Given the description of an element on the screen output the (x, y) to click on. 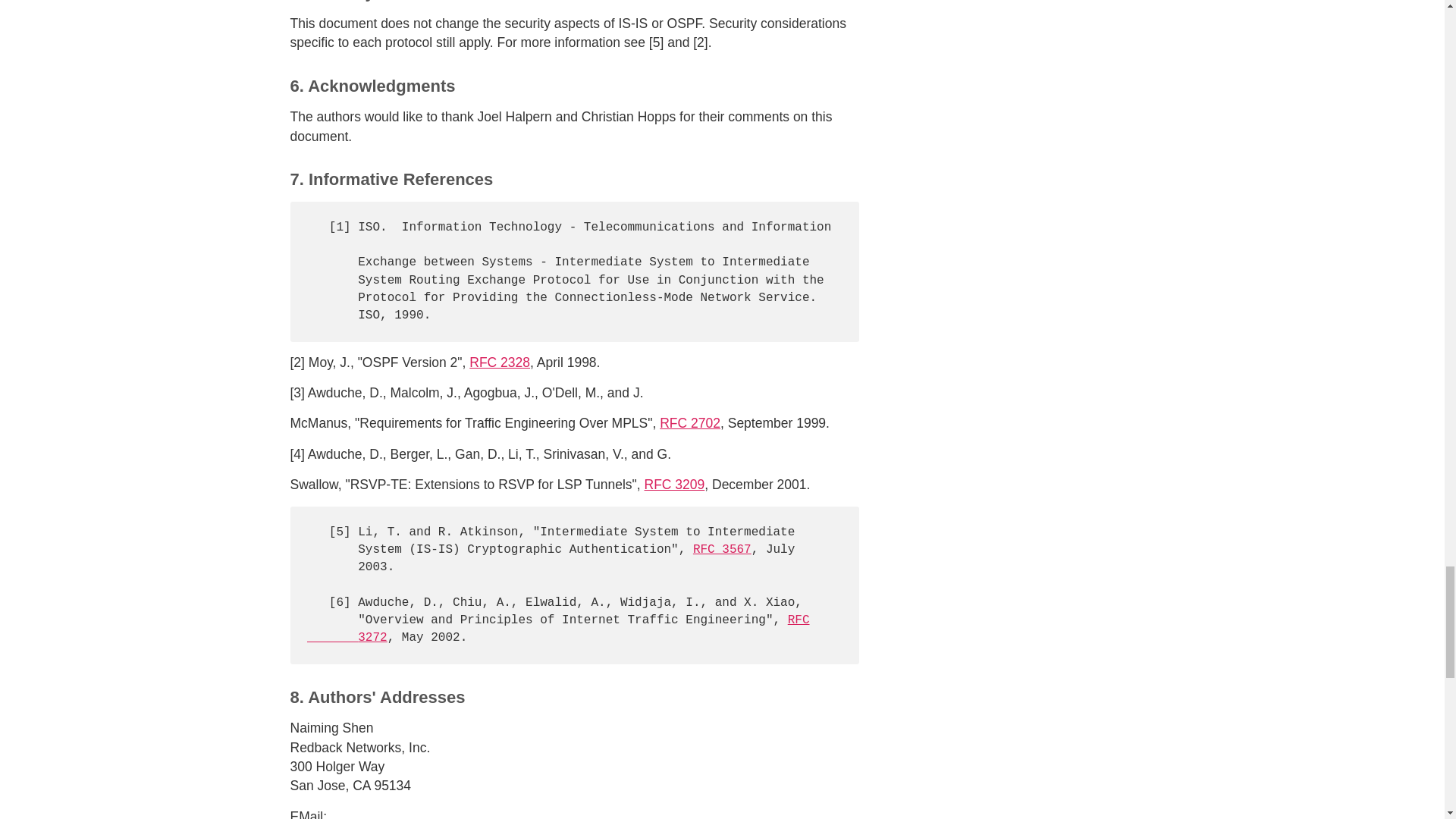
RFC 2328 (498, 362)
RFC 3209 (674, 484)
RFC 2702 (689, 422)
RFC 3567 (558, 628)
